Given the description of an element on the screen output the (x, y) to click on. 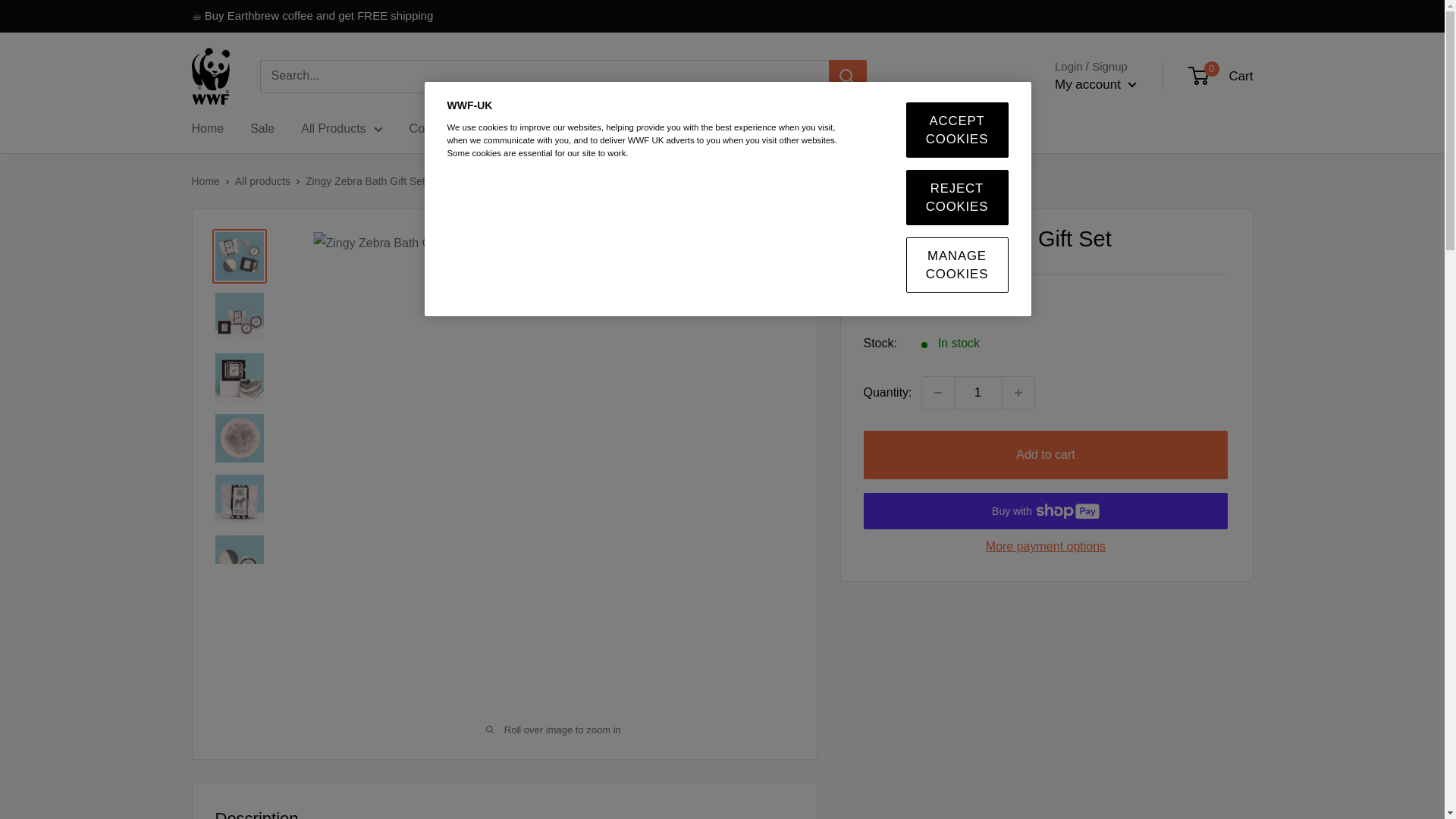
Increase quantity by 1 (1018, 392)
1 (978, 392)
Decrease quantity by 1 (937, 392)
